Given the description of an element on the screen output the (x, y) to click on. 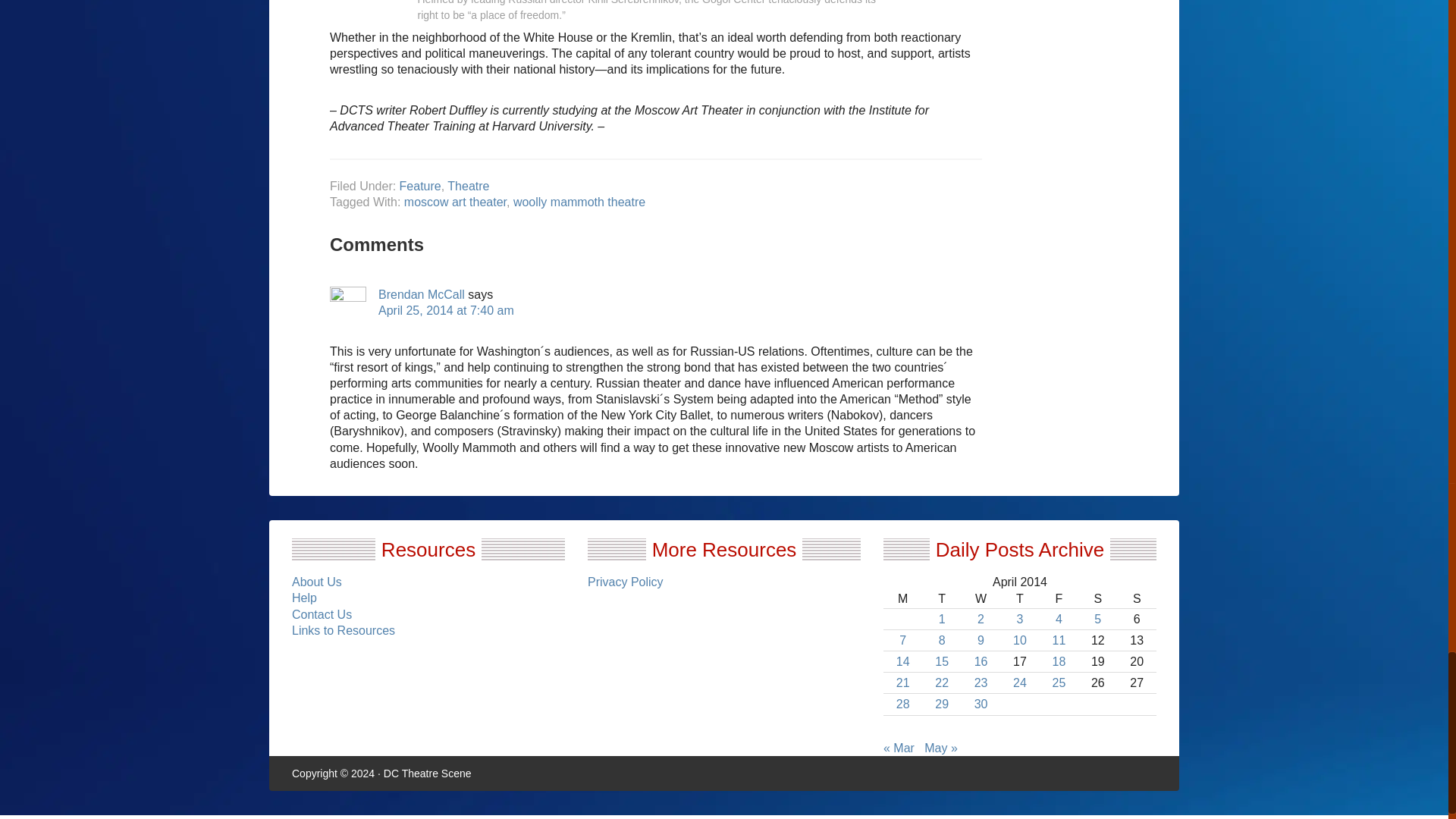
Monday (902, 598)
Saturday (1097, 598)
Friday (1058, 598)
Tuesday (940, 598)
Thursday (1019, 598)
Sunday (1137, 598)
Wednesday (980, 598)
